Given the description of an element on the screen output the (x, y) to click on. 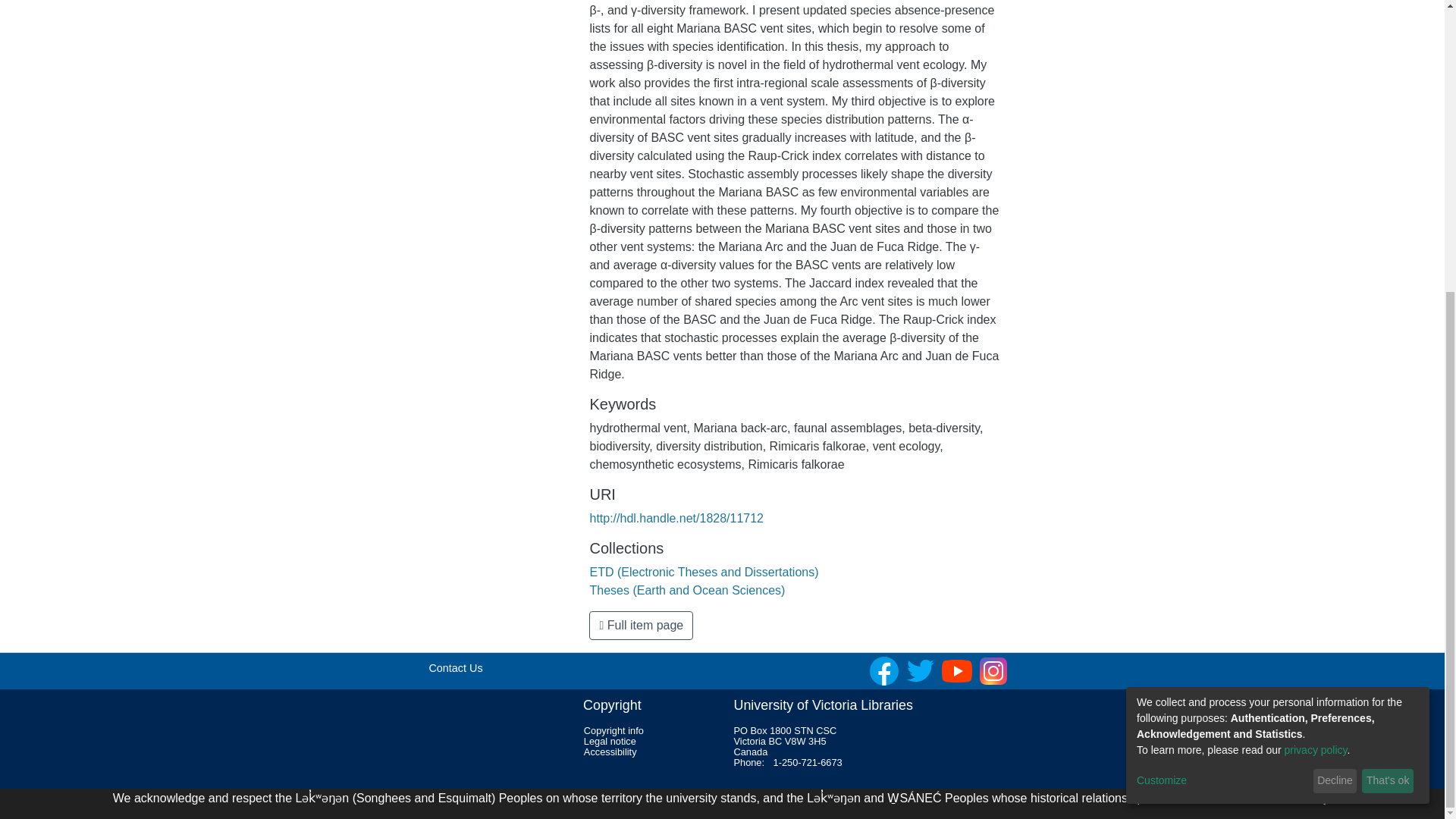
Full item page (641, 624)
Contact Us (454, 667)
